Given the description of an element on the screen output the (x, y) to click on. 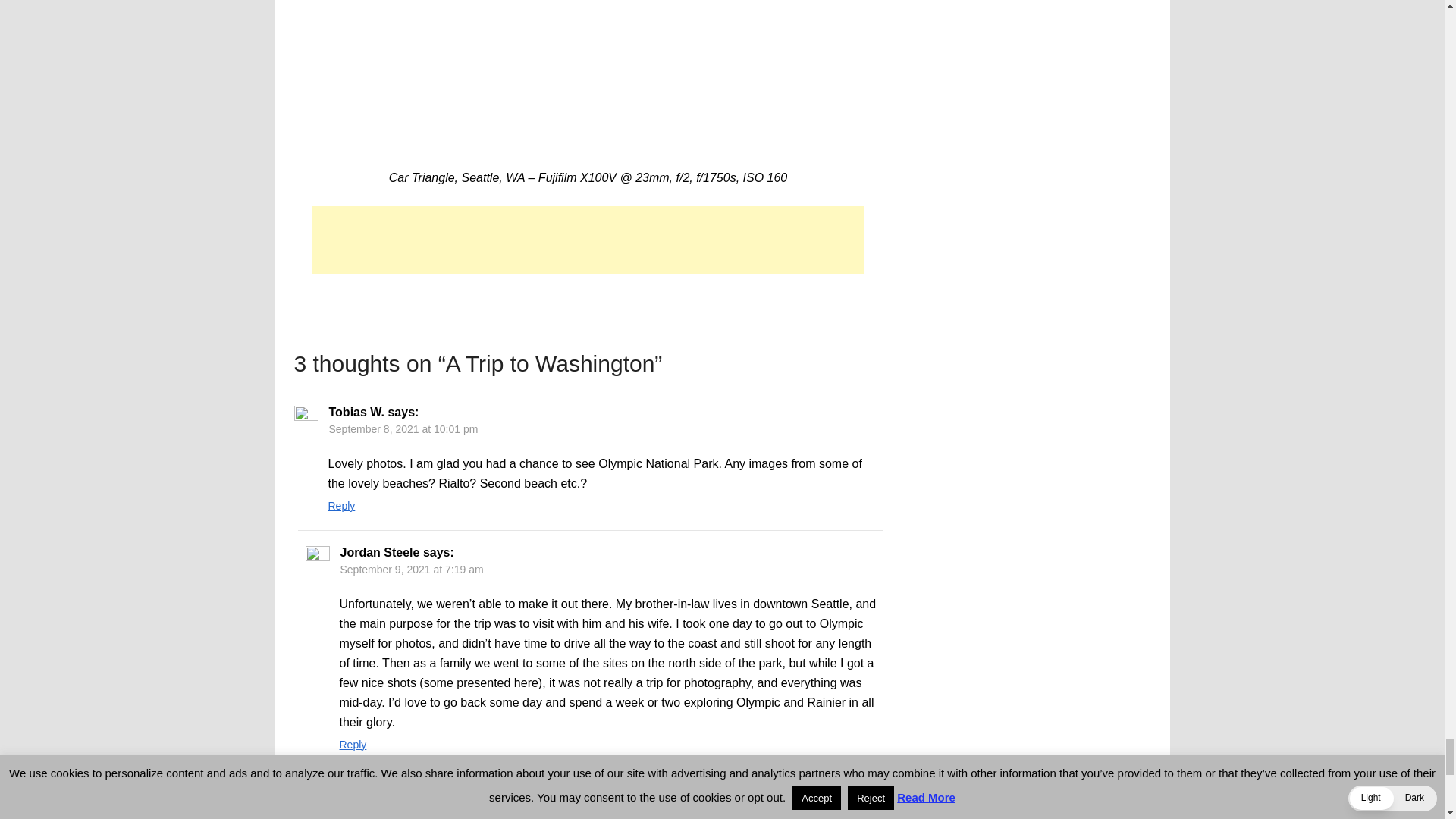
Reply (341, 505)
Reply (352, 744)
September 9, 2021 at 7:19 am (411, 569)
September 8, 2021 at 10:01 pm (404, 428)
